Given the description of an element on the screen output the (x, y) to click on. 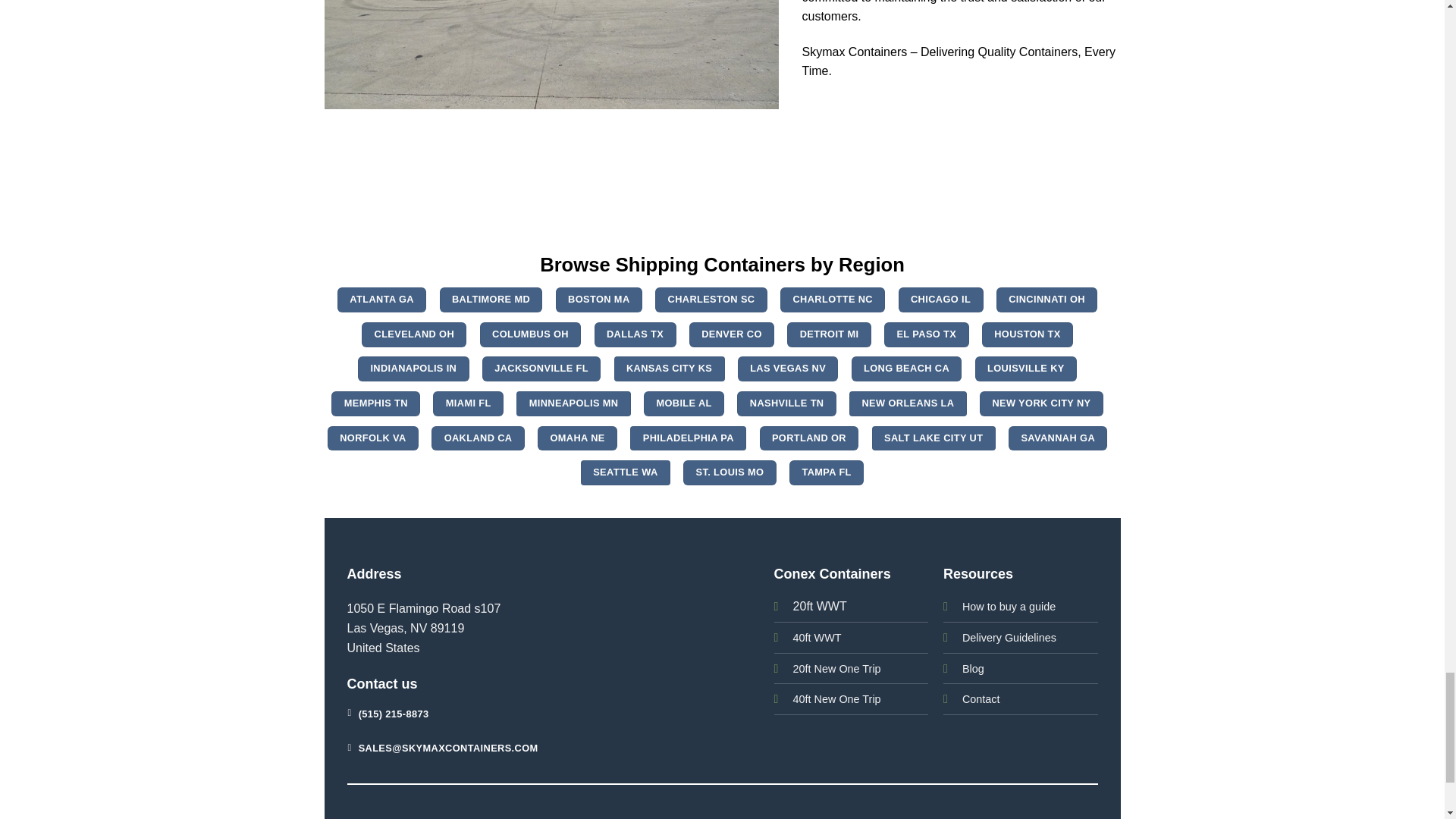
BALTIMORE MD (491, 299)
ATLANTA GA (381, 299)
